Given the description of an element on the screen output the (x, y) to click on. 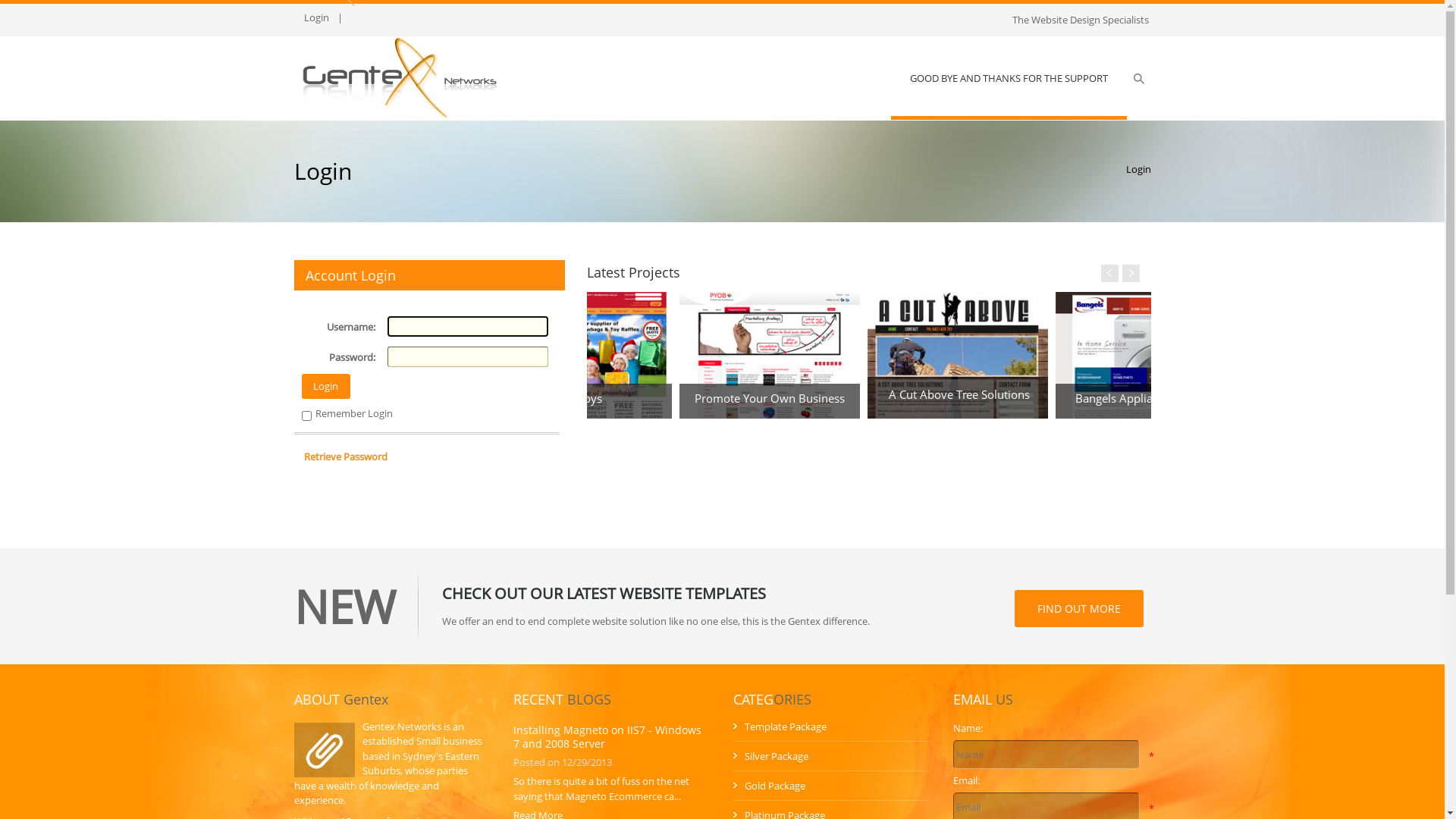
Login Element type: text (325, 385)
Gentex Networks Element type: hover (400, 77)
Retrieve Password Element type: text (345, 456)
GOOD BYE AND THANKS FOR THE SUPPORT Element type: text (1008, 77)
< Element type: text (1109, 273)
Silver Package Element type: text (776, 755)
SEARCH Element type: text (1138, 78)
Gold Package Element type: text (774, 785)
Installing Magneto on IIS7 - Windows 7 and 2008 Server Element type: text (607, 736)
Template Package Element type: text (785, 726)
Login Element type: text (315, 17)
Name Element type: hover (1046, 754)
> Element type: text (1130, 273)
Login Element type: text (1137, 168)
FIND OUT MORE Element type: text (1078, 608)
